Given the description of an element on the screen output the (x, y) to click on. 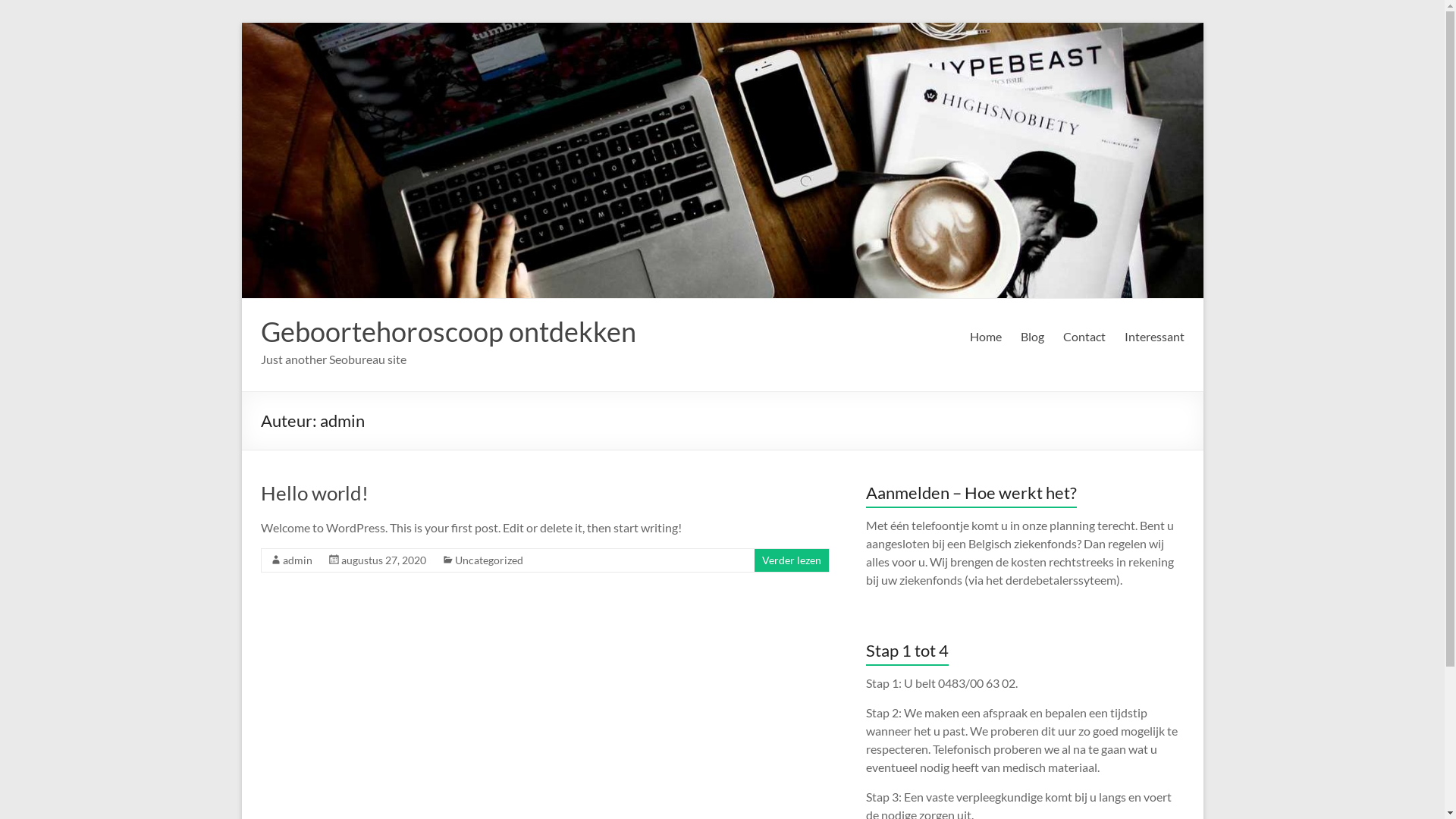
augustus 27, 2020 Element type: text (383, 559)
Geboortehoroscoop ontdekken Element type: text (448, 331)
Verder lezen Element type: text (790, 559)
Ga naar inhoud Element type: text (241, 21)
Contact Element type: text (1084, 336)
Home Element type: text (985, 336)
Uncategorized Element type: text (489, 559)
Blog Element type: text (1032, 336)
Hello world! Element type: text (314, 492)
admin Element type: text (296, 559)
Interessant Element type: text (1153, 336)
